Given the description of an element on the screen output the (x, y) to click on. 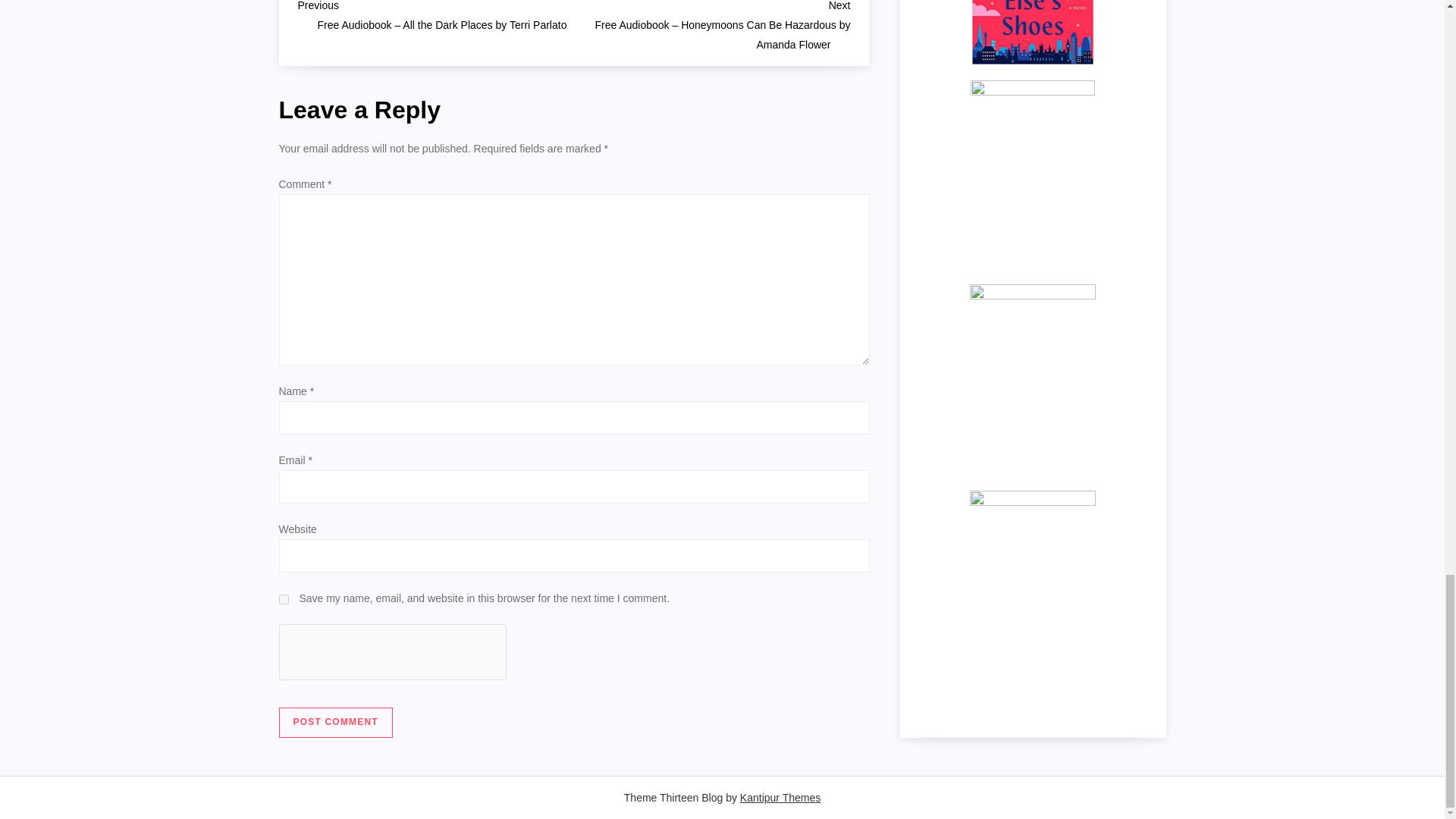
yes (283, 599)
Post Comment (336, 722)
